Given the description of an element on the screen output the (x, y) to click on. 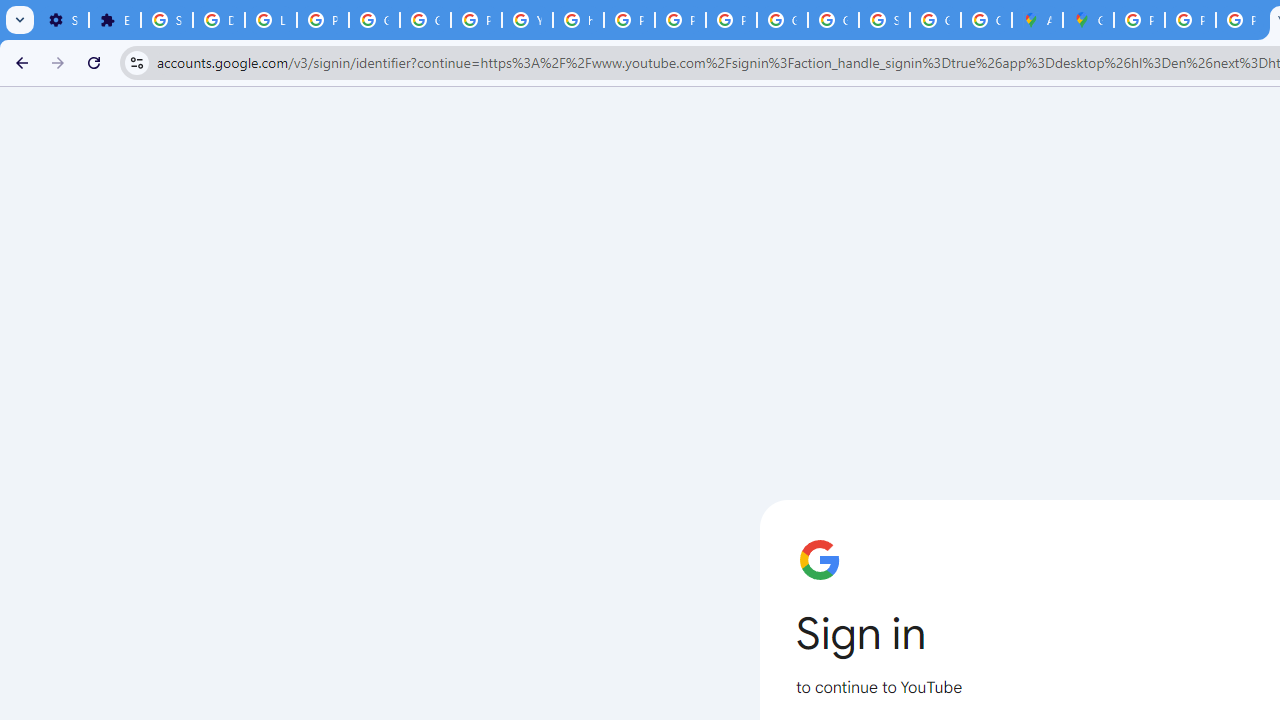
Sign in - Google Accounts (884, 20)
